Given the description of an element on the screen output the (x, y) to click on. 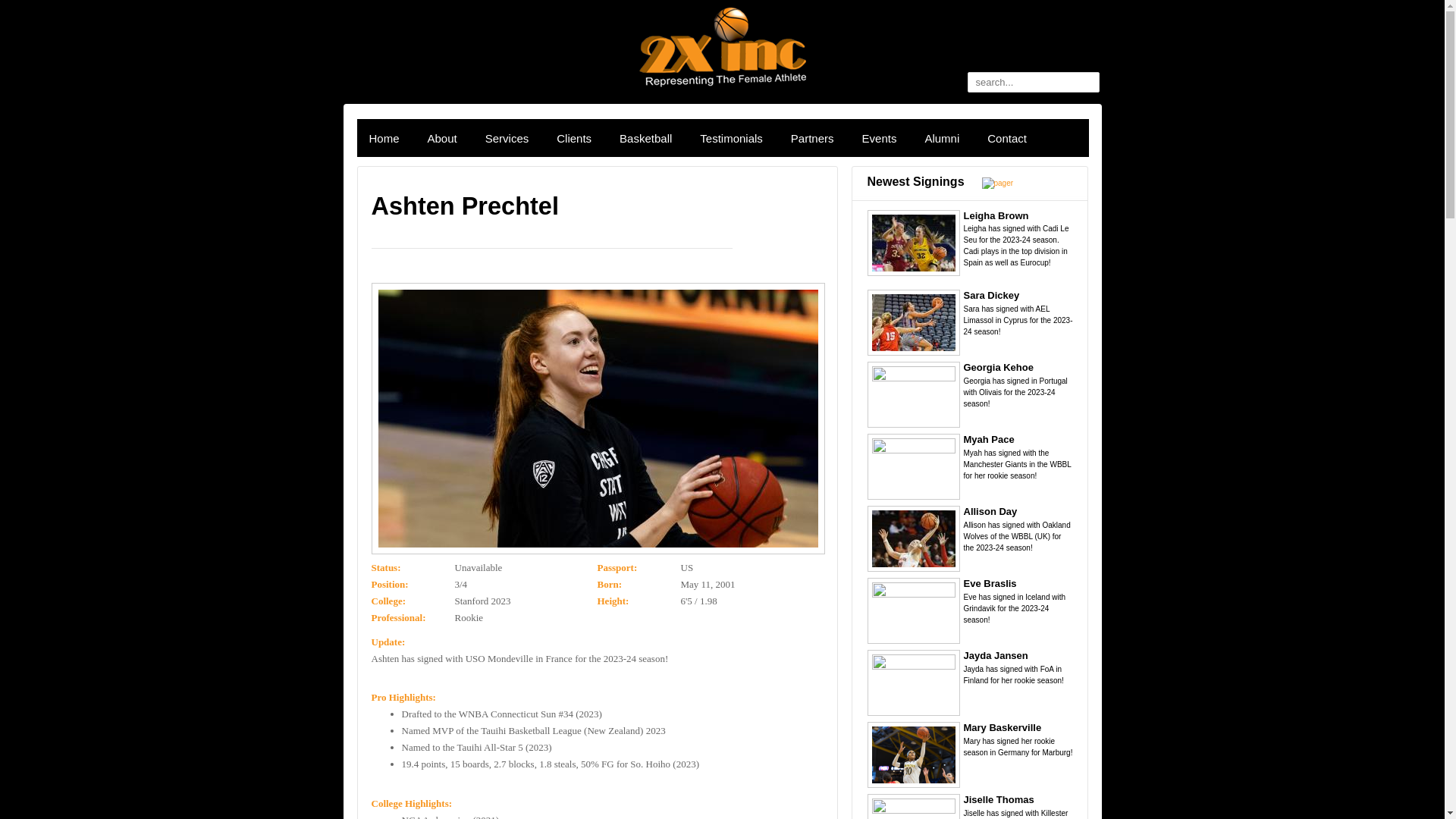
Contact Element type: text (1006, 138)
Mary Baskerville Element type: text (1002, 727)
Alumni Element type: text (941, 138)
Testimonials Element type: text (731, 138)
Skip to main content Element type: text (653, 0)
Jiselle Thomas Element type: text (998, 799)
Eve Braslis Element type: text (989, 583)
Events Element type: text (879, 138)
Partners Element type: text (812, 138)
Myah Pace Element type: text (988, 439)
Jayda Jansen Element type: text (995, 655)
Allison Day Element type: text (989, 511)
Sara Dickey Element type: text (991, 295)
Georgia Kehoe Element type: text (997, 367)
Leigha Brown Element type: text (995, 215)
Home Element type: text (383, 138)
About Element type: text (442, 138)
Services Element type: text (506, 138)
